Given the description of an element on the screen output the (x, y) to click on. 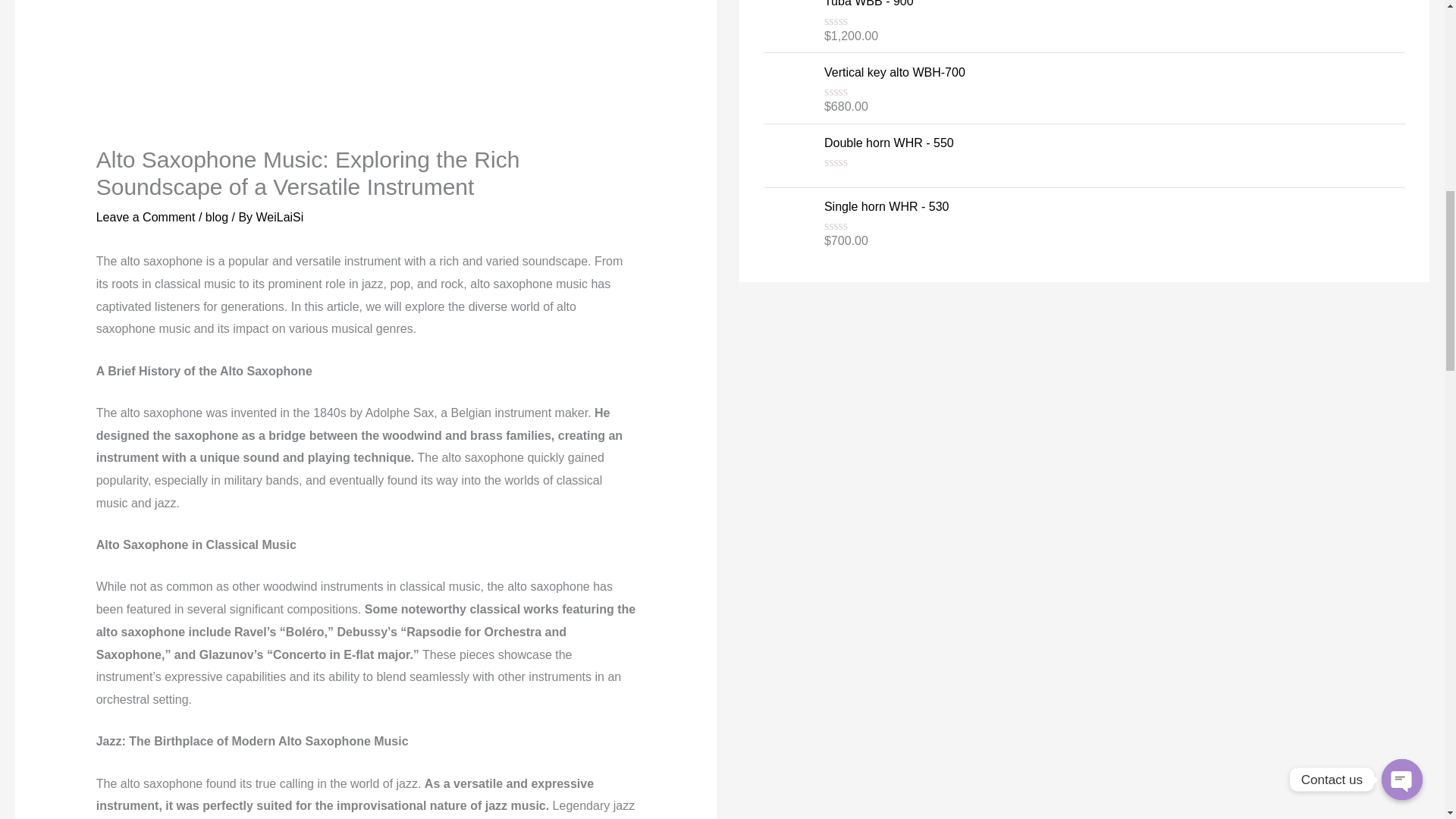
WeiLaiSi (280, 216)
View all posts by WeiLaiSi (280, 216)
Leave a Comment (145, 216)
blog (216, 216)
